Given the description of an element on the screen output the (x, y) to click on. 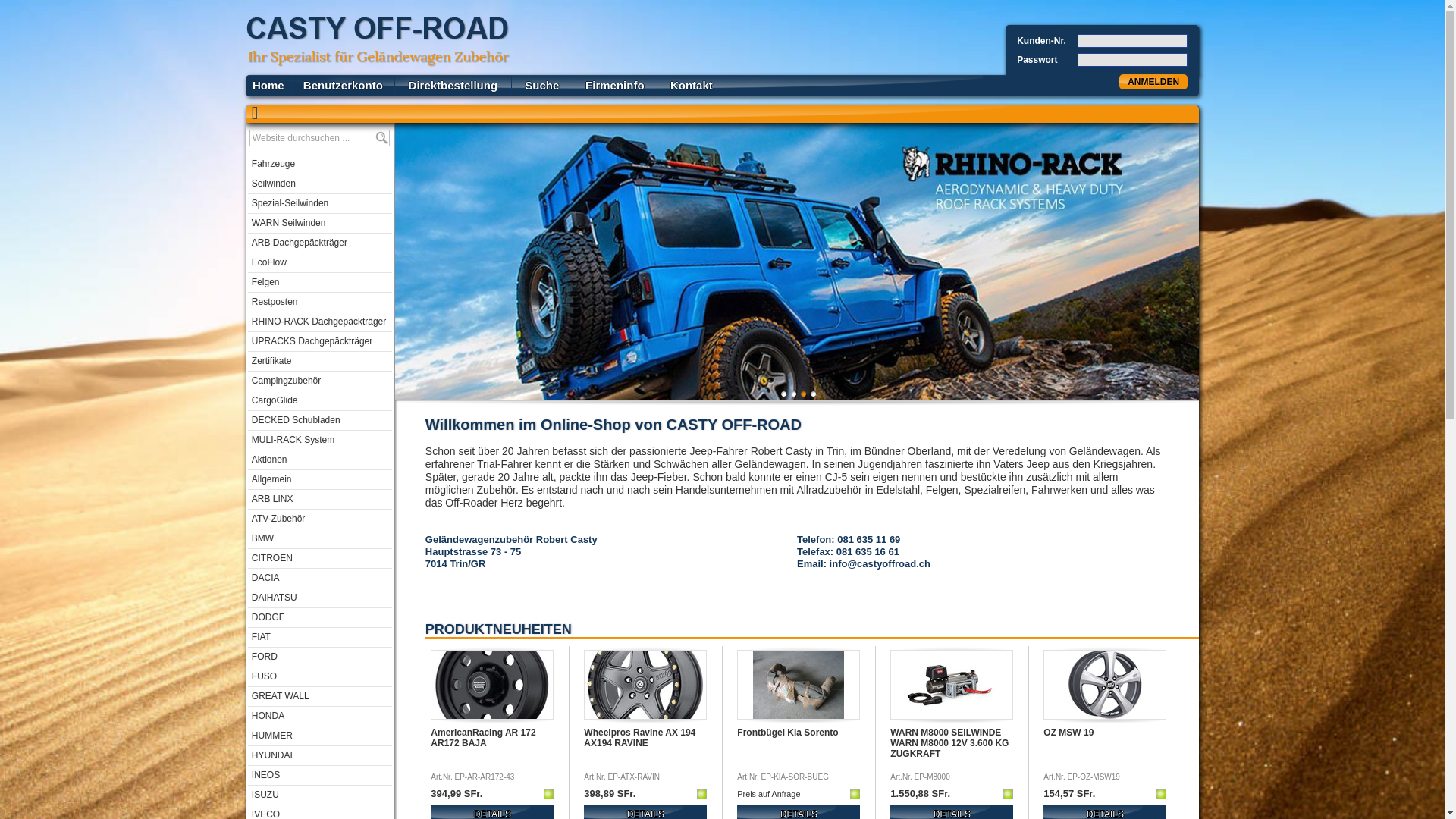
WARN M8000 SEILWINDE WARN M8000 12V 3.600 KG ZUGKRAFT Element type: hover (951, 715)
Aktionen Element type: text (319, 460)
ANMELDEN Element type: text (1153, 81)
CargoGlide Element type: text (319, 401)
INEOS Element type: text (319, 775)
AmericanRacing AR 172 AR172 BAJA Element type: hover (491, 715)
Fahrzeuge Element type: text (319, 164)
BMW Element type: text (319, 539)
Wheelpros Ravine AX 194 AX194 RAVINE Element type: text (644, 749)
DAIHATSU Element type: text (319, 598)
OZ MSW 19  Element type: hover (1104, 715)
FORD Element type: text (319, 657)
Suche Element type: hover (381, 137)
ARB LINX Element type: text (319, 499)
DECKED Schubladen Element type: text (319, 420)
sofort ab Lager Element type: hover (701, 793)
AmericanRacing AR 172 AR172 BAJA Element type: text (491, 749)
Restposten Element type: text (319, 302)
DACIA Element type: text (319, 578)
3 Element type: text (812, 393)
sofort ab Lager Element type: hover (854, 793)
OZ MSW 19 Element type: text (1104, 749)
Zertifikate Element type: text (319, 361)
CITROEN Element type: text (319, 558)
HUMMER Element type: text (319, 736)
Spezial-Seilwinden Element type: text (319, 203)
WARN M8000 SEILWINDE WARN M8000 12V 3.600 KG ZUGKRAFT Element type: text (951, 749)
HONDA Element type: text (319, 716)
1 Element type: text (793, 393)
sofort ab Lager Element type: hover (1161, 793)
WARN Seilwinden Element type: text (319, 223)
Wheelpros Ravine AX 194 AX194 RAVINE Element type: hover (645, 715)
FUSO Element type: text (319, 677)
0 Element type: text (783, 393)
ISUZU Element type: text (319, 795)
Seilwinden Element type: text (319, 184)
MULI-RACK System Element type: text (319, 440)
Allgemein Element type: text (319, 479)
2 Element type: text (803, 393)
Felgen Element type: text (319, 282)
sofort ab Lager Element type: hover (1008, 793)
EcoFlow Element type: text (319, 263)
CASTY OFF-ROAD SHOP Element type: hover (378, 42)
DODGE Element type: text (319, 617)
sofort ab Lager Element type: hover (548, 793)
GREAT WALL Element type: text (319, 696)
FIAT Element type: text (319, 637)
HYUNDAI Element type: text (319, 755)
